Given the description of an element on the screen output the (x, y) to click on. 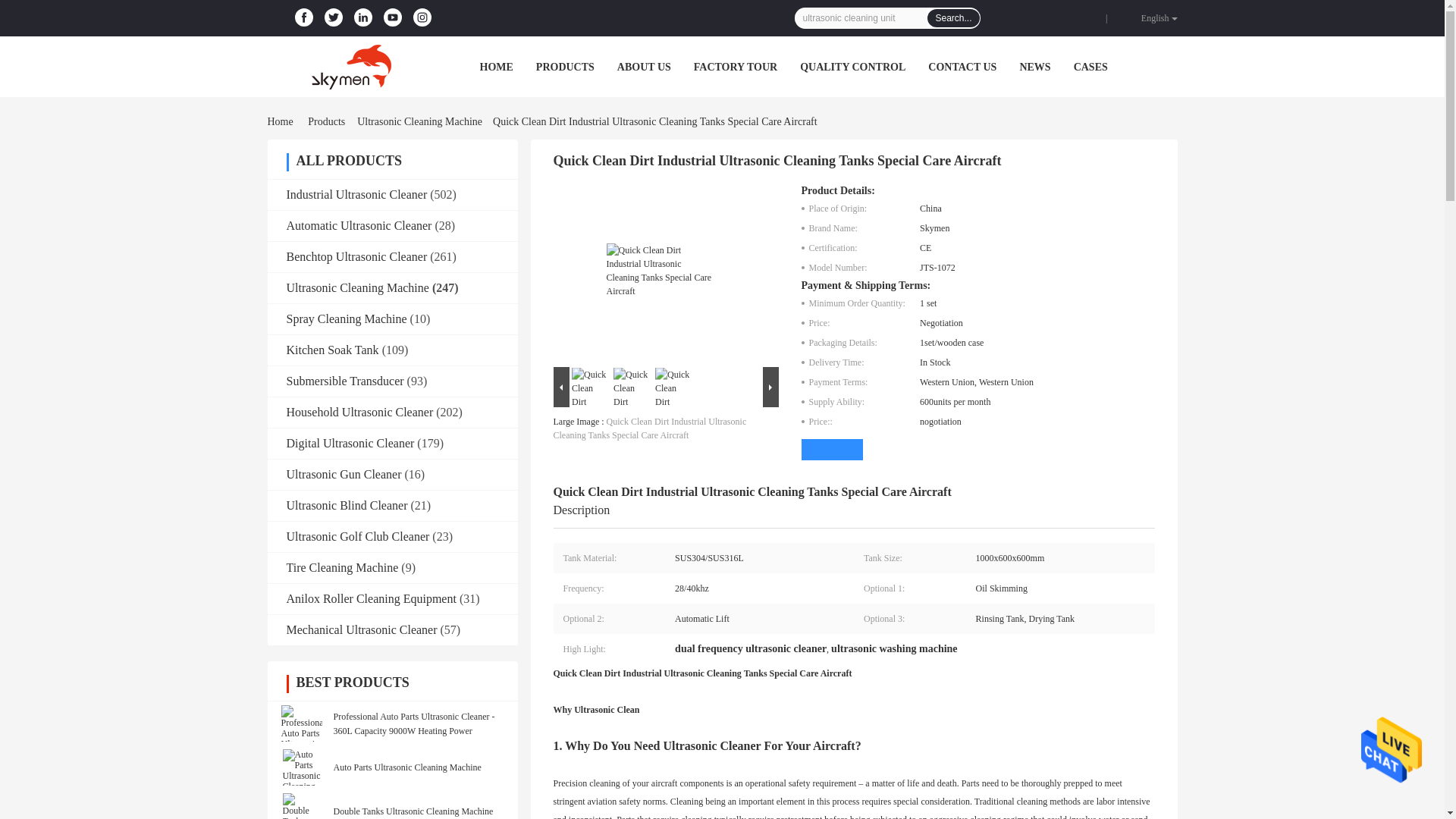
CONTACT US (961, 66)
FACTORY TOUR (735, 66)
Home (282, 121)
ABOUT US (644, 66)
NEWS (1034, 66)
Skymen Technology Corporation Limited LinkedIn (362, 17)
Skymen Technology Corporation Limited YouTube (392, 17)
HOME (495, 66)
Skymen Technology Corporation Limited Instagram (421, 17)
PRODUCTS (564, 66)
